Given the description of an element on the screen output the (x, y) to click on. 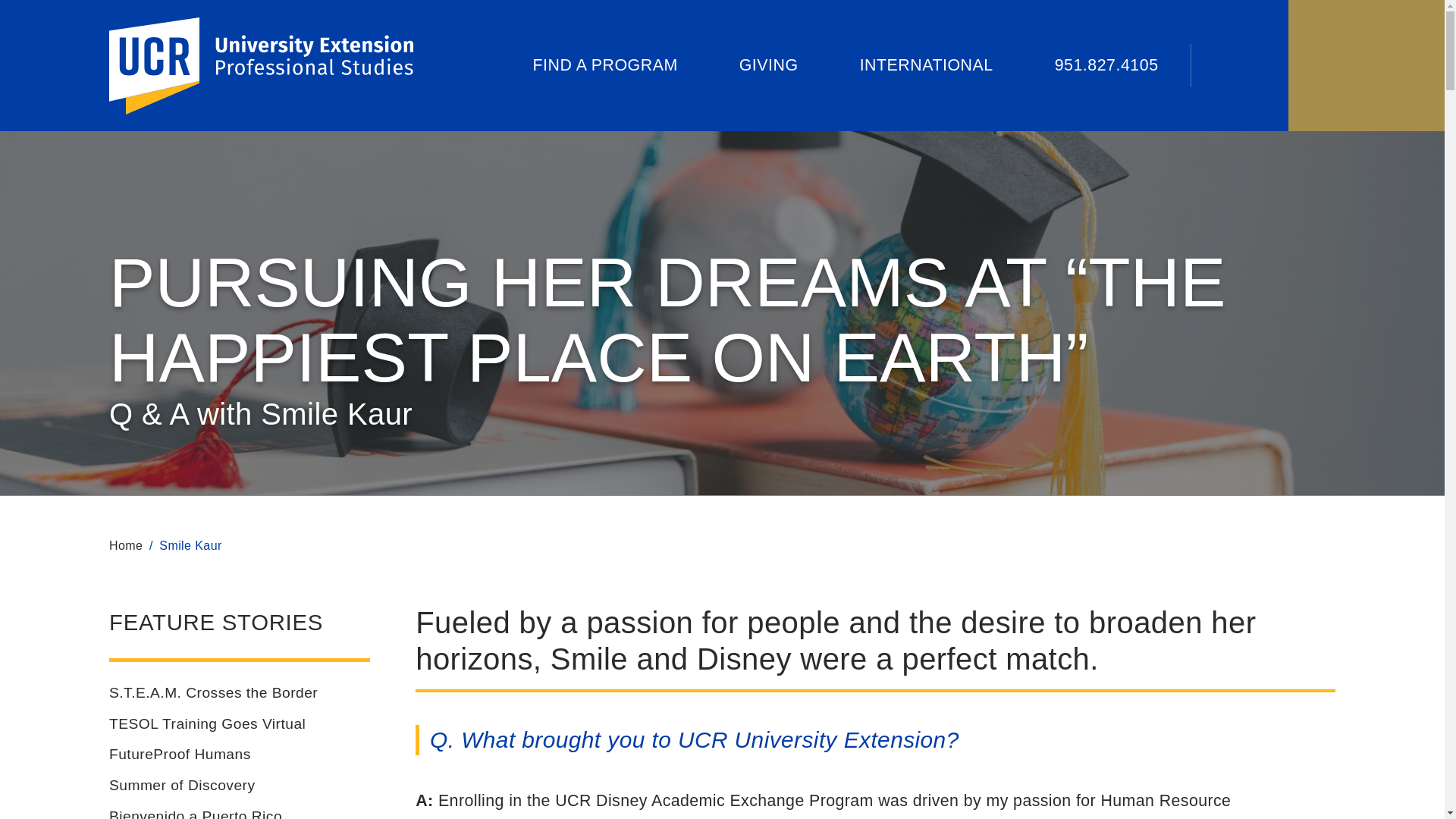
Shop (590, 65)
University of California, Riverside Extension (1236, 65)
Toggle Flyout Menu (261, 65)
